Given the description of an element on the screen output the (x, y) to click on. 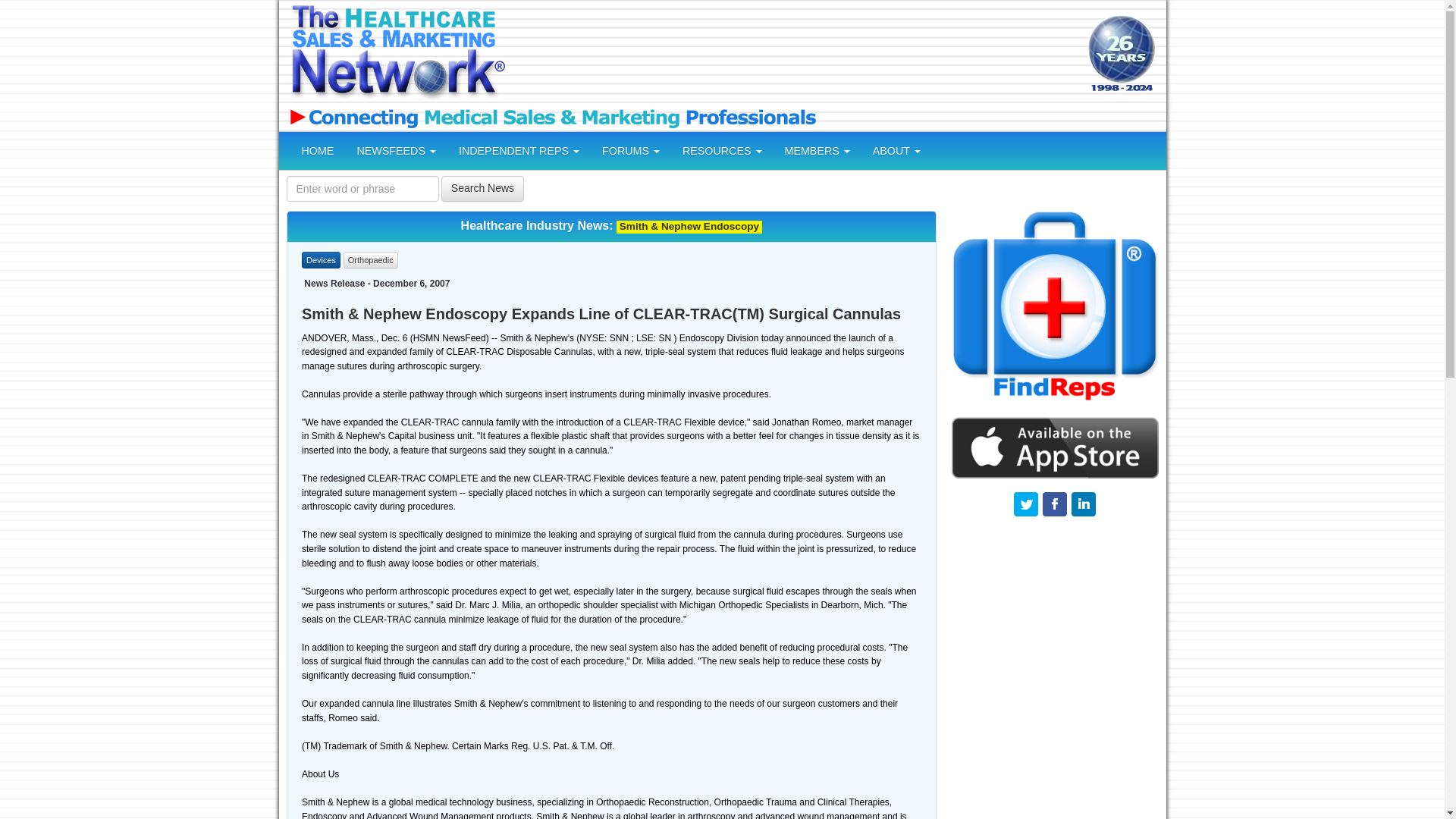
INDEPENDENT REPS  (518, 150)
Advertisement (794, 55)
Search News (482, 188)
RESOURCES  (722, 150)
NEWSFEEDS  (395, 150)
HOME (317, 150)
FORUMS  (631, 150)
